Given the description of an element on the screen output the (x, y) to click on. 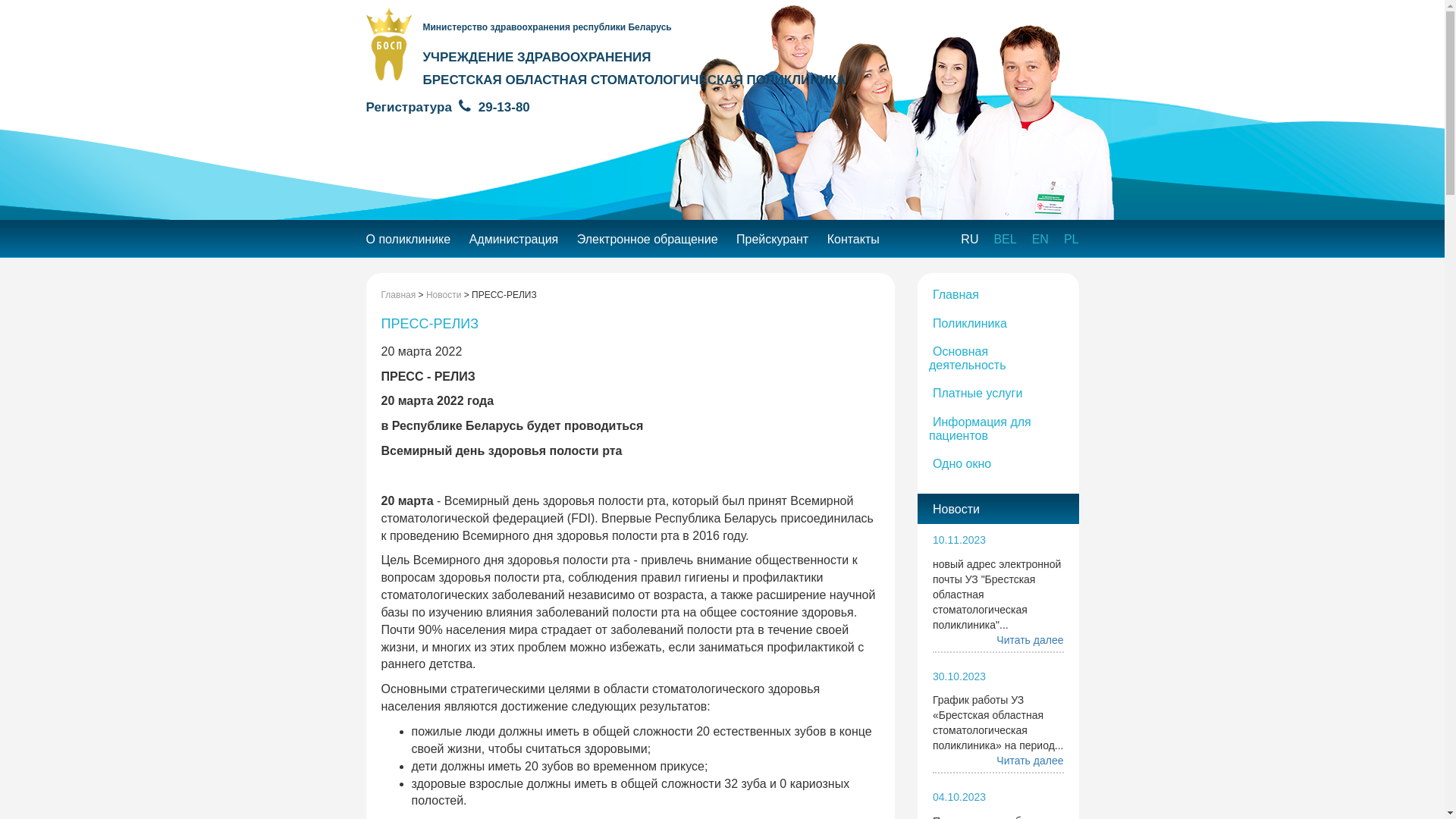
BEL Element type: text (1004, 238)
PL Element type: text (1071, 238)
RU Element type: text (969, 238)
EN Element type: text (1040, 238)
